Given the description of an element on the screen output the (x, y) to click on. 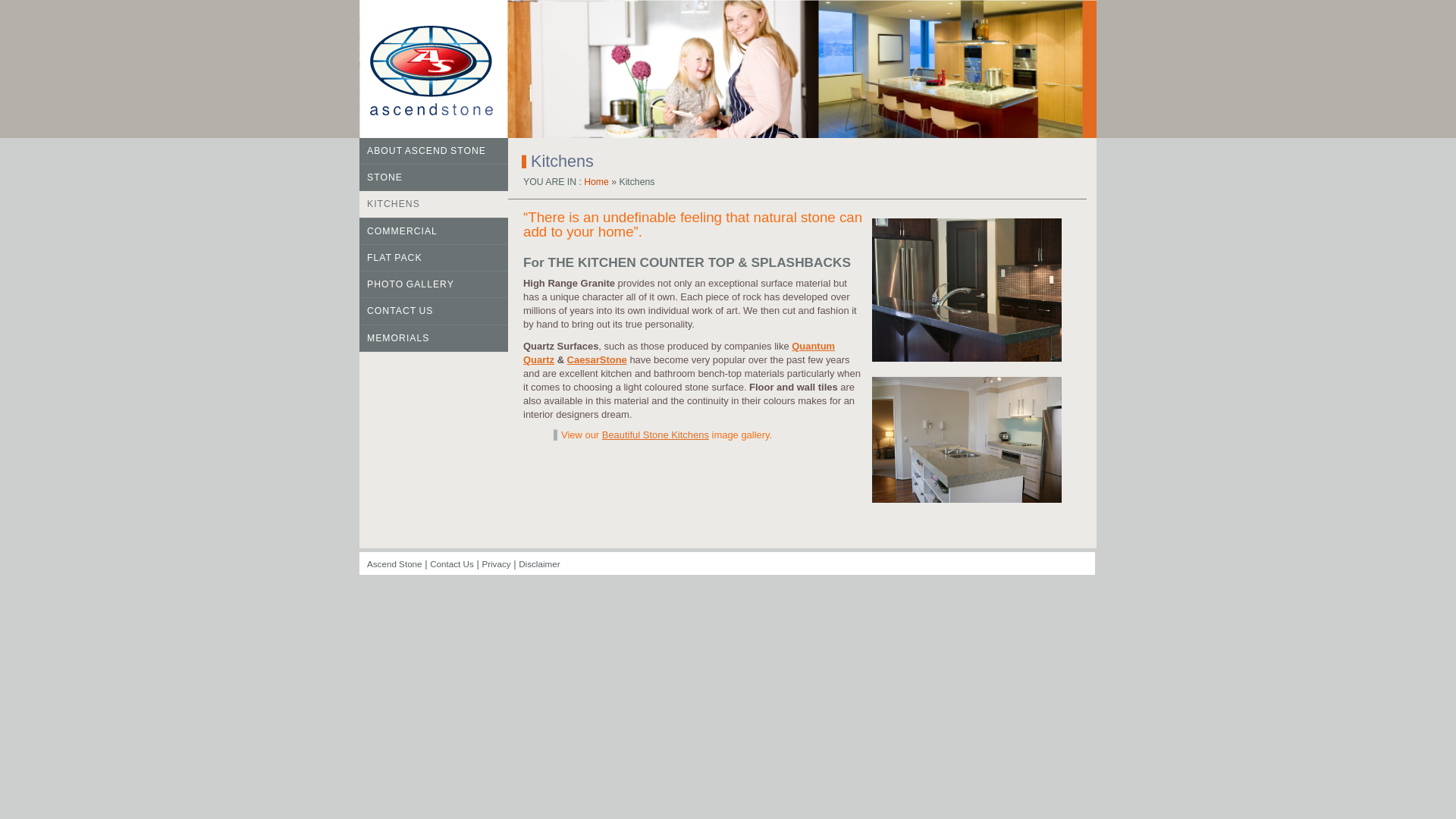
Beautiful Stone Kitchens (655, 434)
STONE (433, 177)
ABOUT ASCEND STONE (433, 151)
Ascend Stone (445, 71)
PHOTO GALLERY (433, 284)
CaesarStone (597, 359)
Contact Us (451, 563)
Privacy (496, 563)
CONTACT US (433, 311)
MEMORIALS (433, 338)
FLAT PACK (433, 257)
Ascend Stone (394, 563)
Home (595, 181)
KITCHENS (433, 203)
Disclaimer (538, 563)
